Given the description of an element on the screen output the (x, y) to click on. 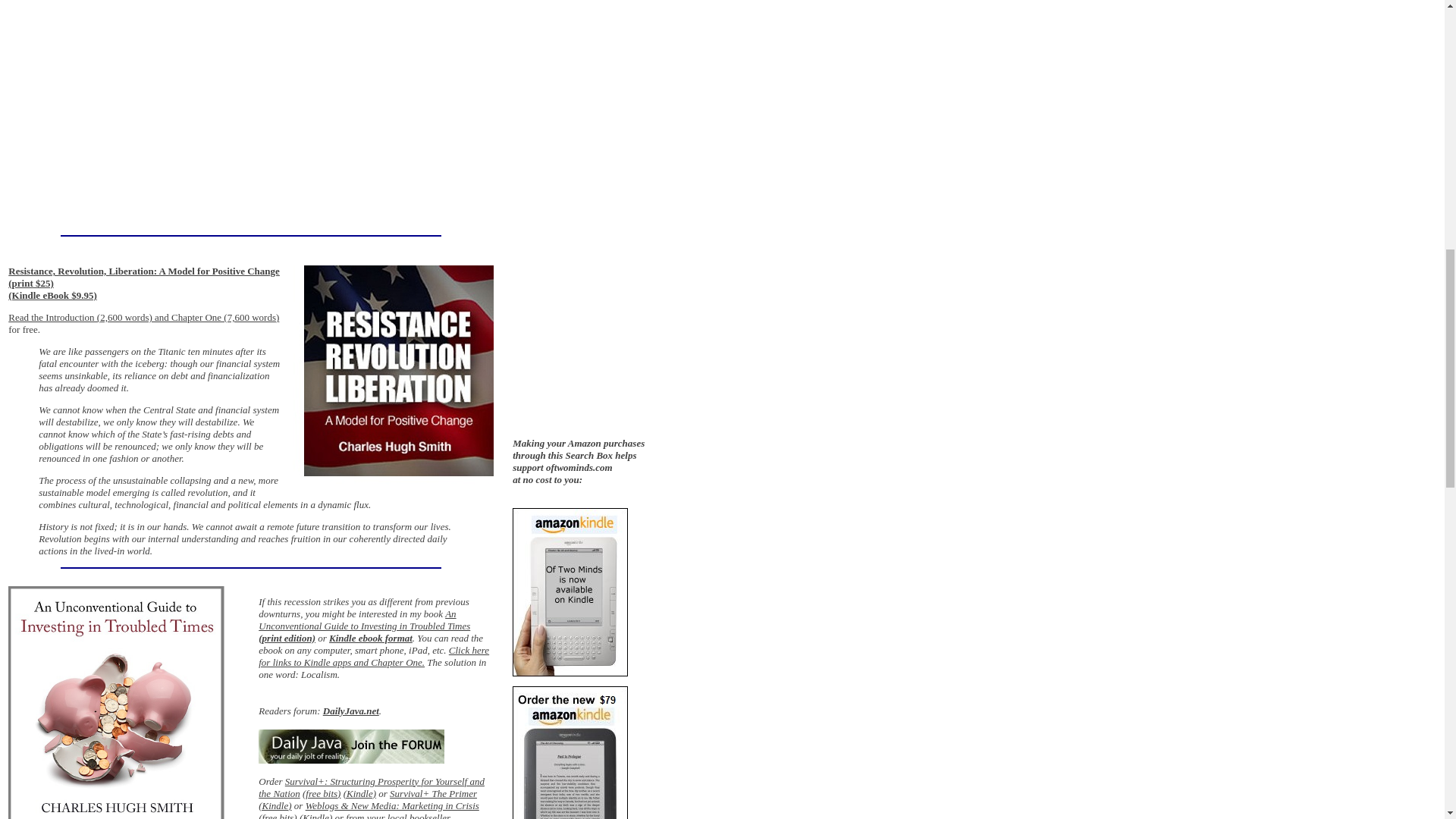
DailyJava.net (350, 710)
Click here for links to Kindle apps and Chapter One. (374, 656)
Kindle ebook format (370, 637)
